Given the description of an element on the screen output the (x, y) to click on. 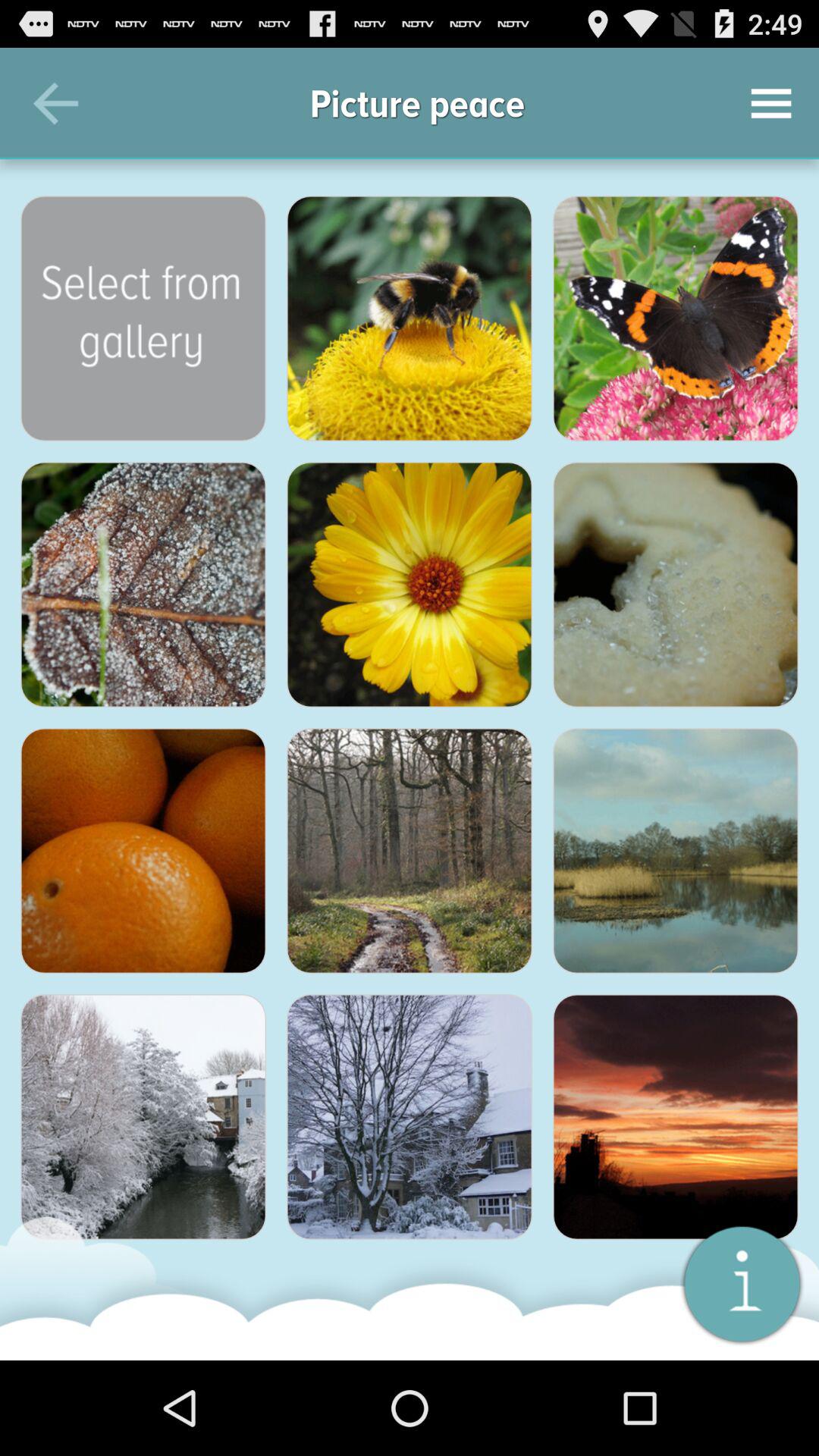
select the bee (409, 318)
